Given the description of an element on the screen output the (x, y) to click on. 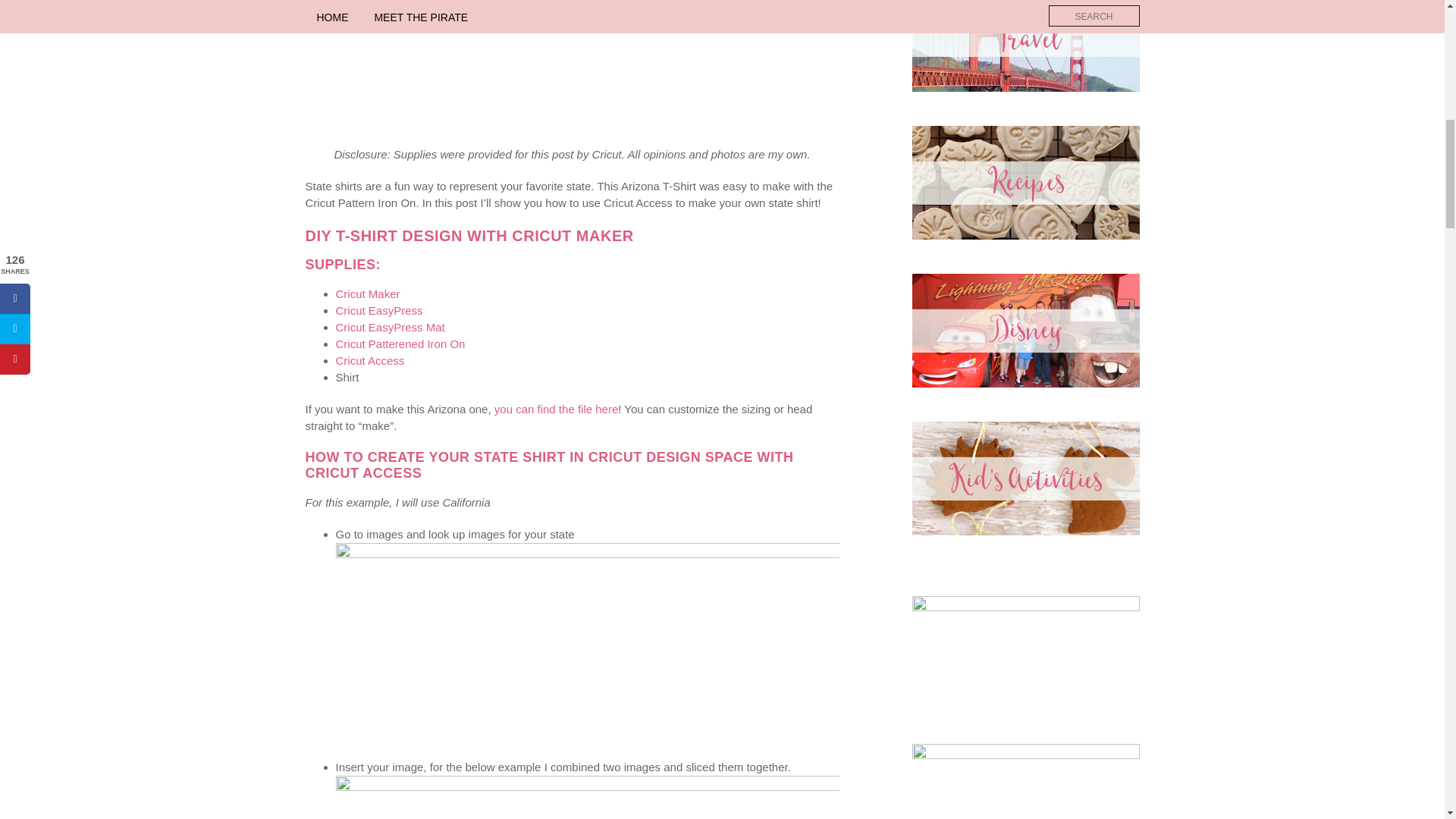
Cricut EasyPress (378, 309)
Cricut EasyPress Mat (389, 327)
Cricut Patterened Iron On  (400, 343)
you can find the file here (556, 408)
Cricut Access (369, 359)
Cricut Maker (366, 293)
